Given the description of an element on the screen output the (x, y) to click on. 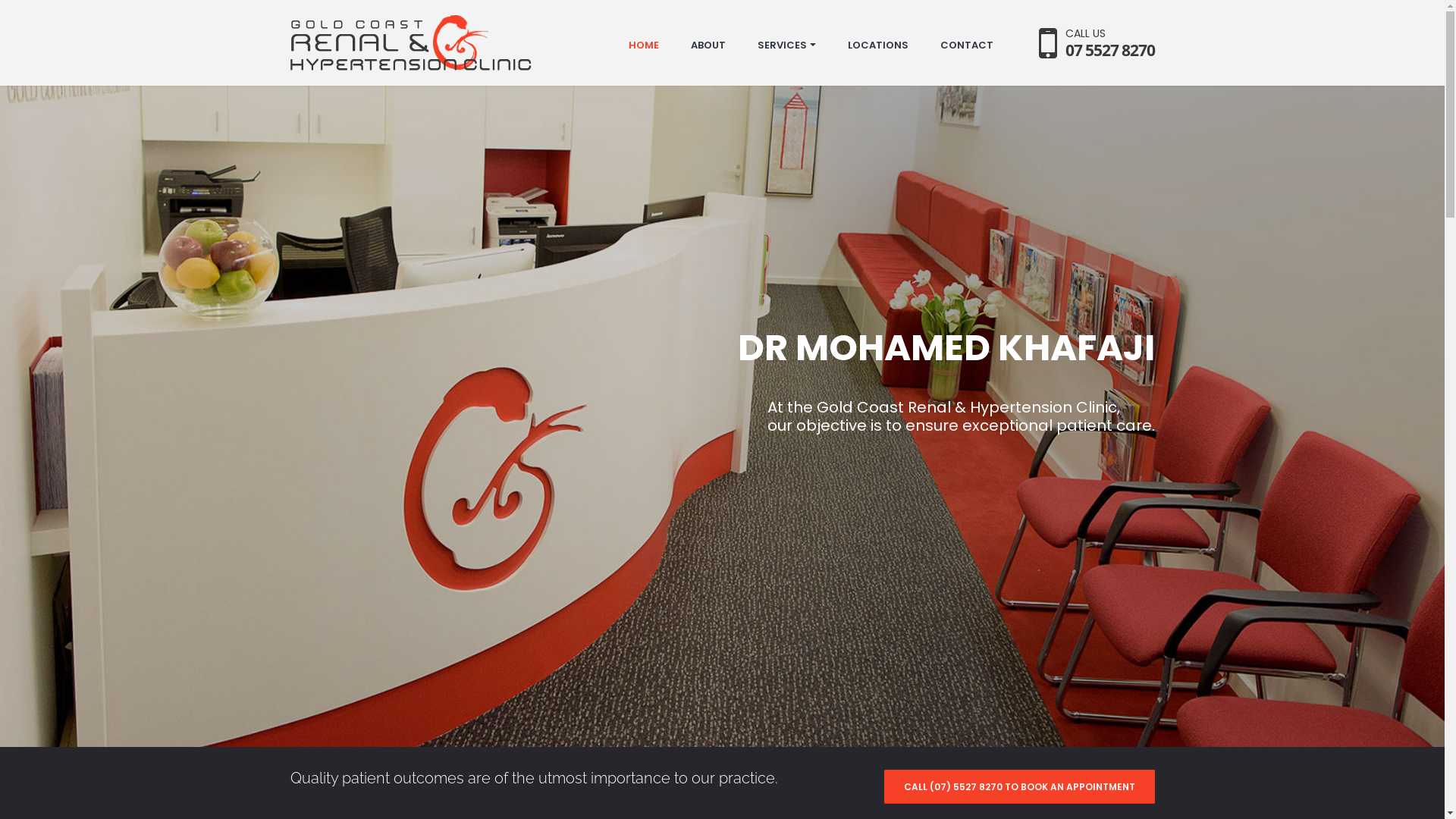
ABOUT Element type: text (707, 45)
CONTACT Element type: text (966, 45)
SERVICES Element type: text (785, 45)
LOCATIONS Element type: text (877, 45)
CALL (07) 5527 8270 TO BOOK AN APPOINTMENT Element type: text (1019, 786)
HOME Element type: text (642, 45)
